Given the description of an element on the screen output the (x, y) to click on. 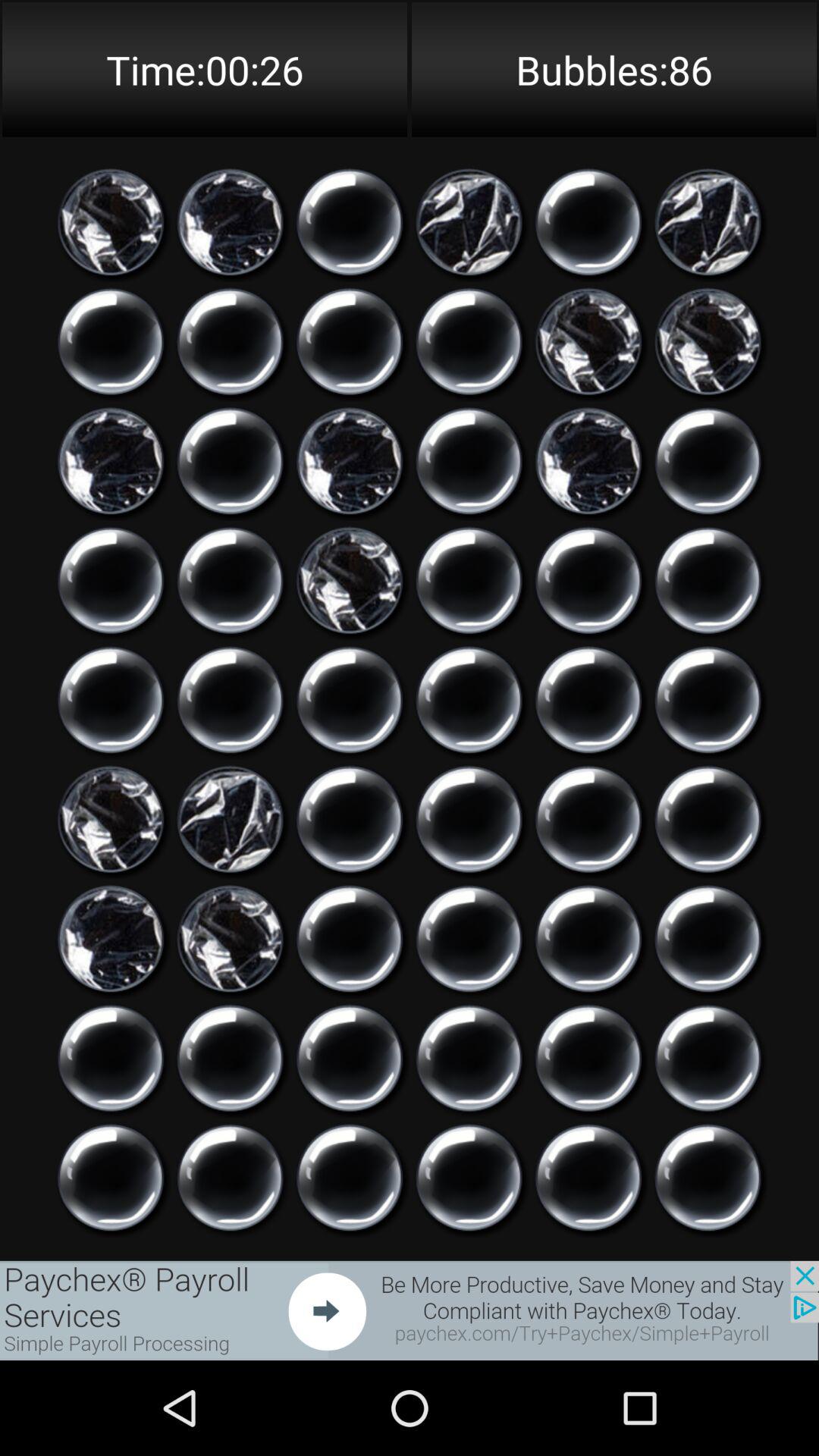
pop a bubble (468, 1177)
